Given the description of an element on the screen output the (x, y) to click on. 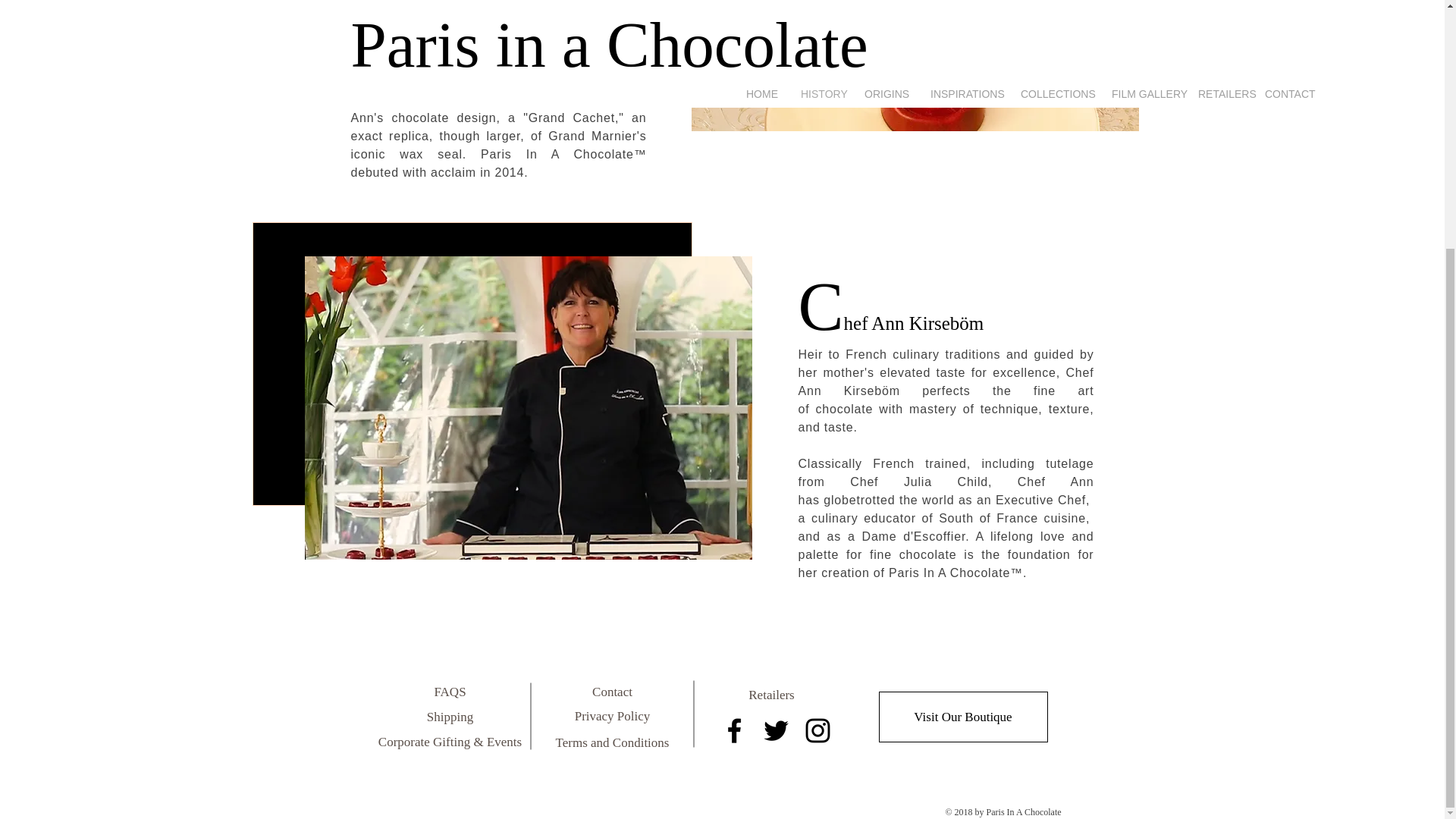
Terms and Conditions (612, 742)
Privacy Policy (611, 716)
Visit Our Boutique (961, 716)
FAQS (449, 691)
Shipping (449, 717)
Retailers (771, 695)
Contact (611, 691)
